Given the description of an element on the screen output the (x, y) to click on. 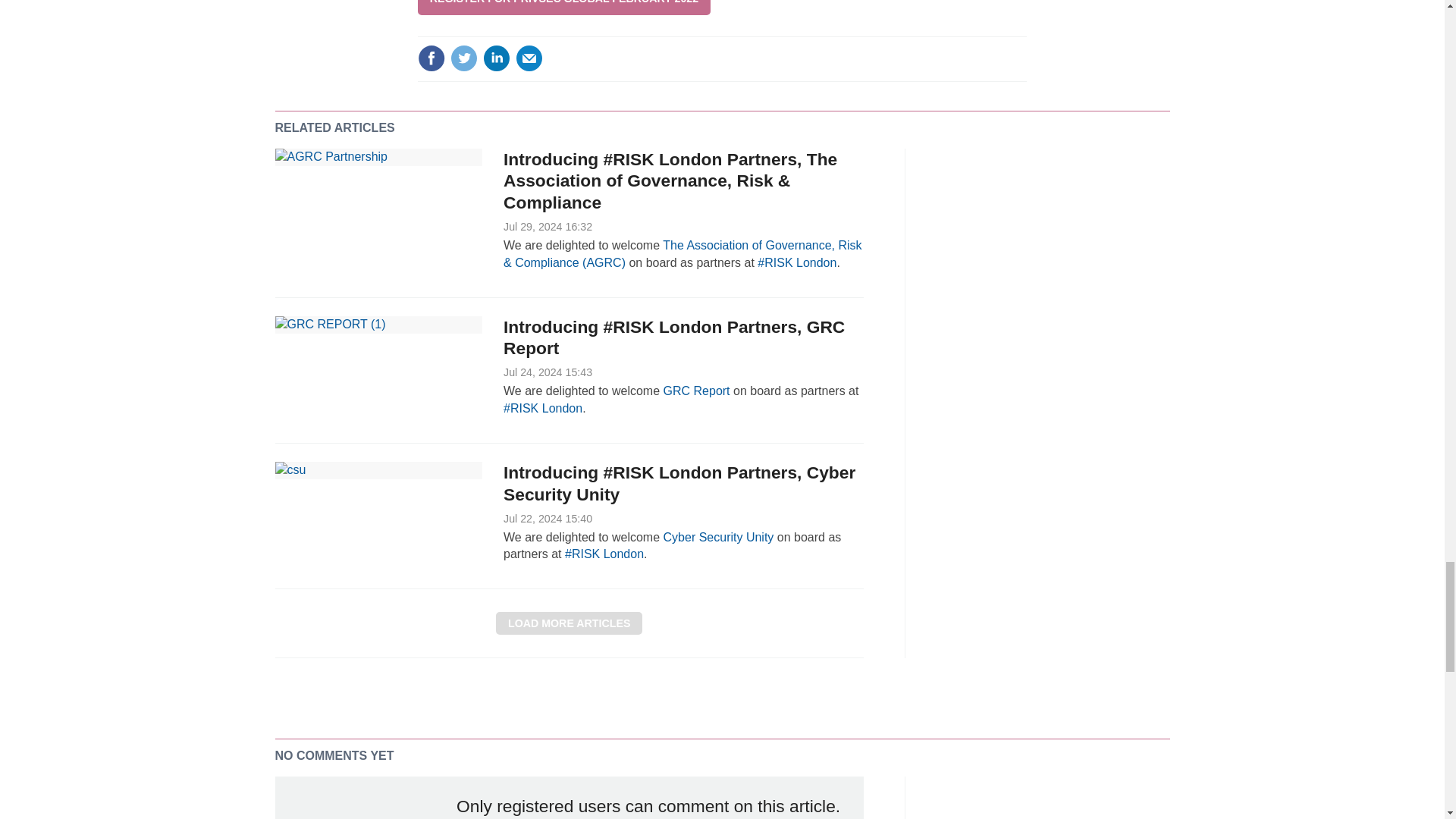
Share this on Linked in (497, 58)
Share this on Facebook (431, 58)
Email this article (529, 58)
Share this on Twitter (463, 58)
No comments (1003, 67)
